Given the description of an element on the screen output the (x, y) to click on. 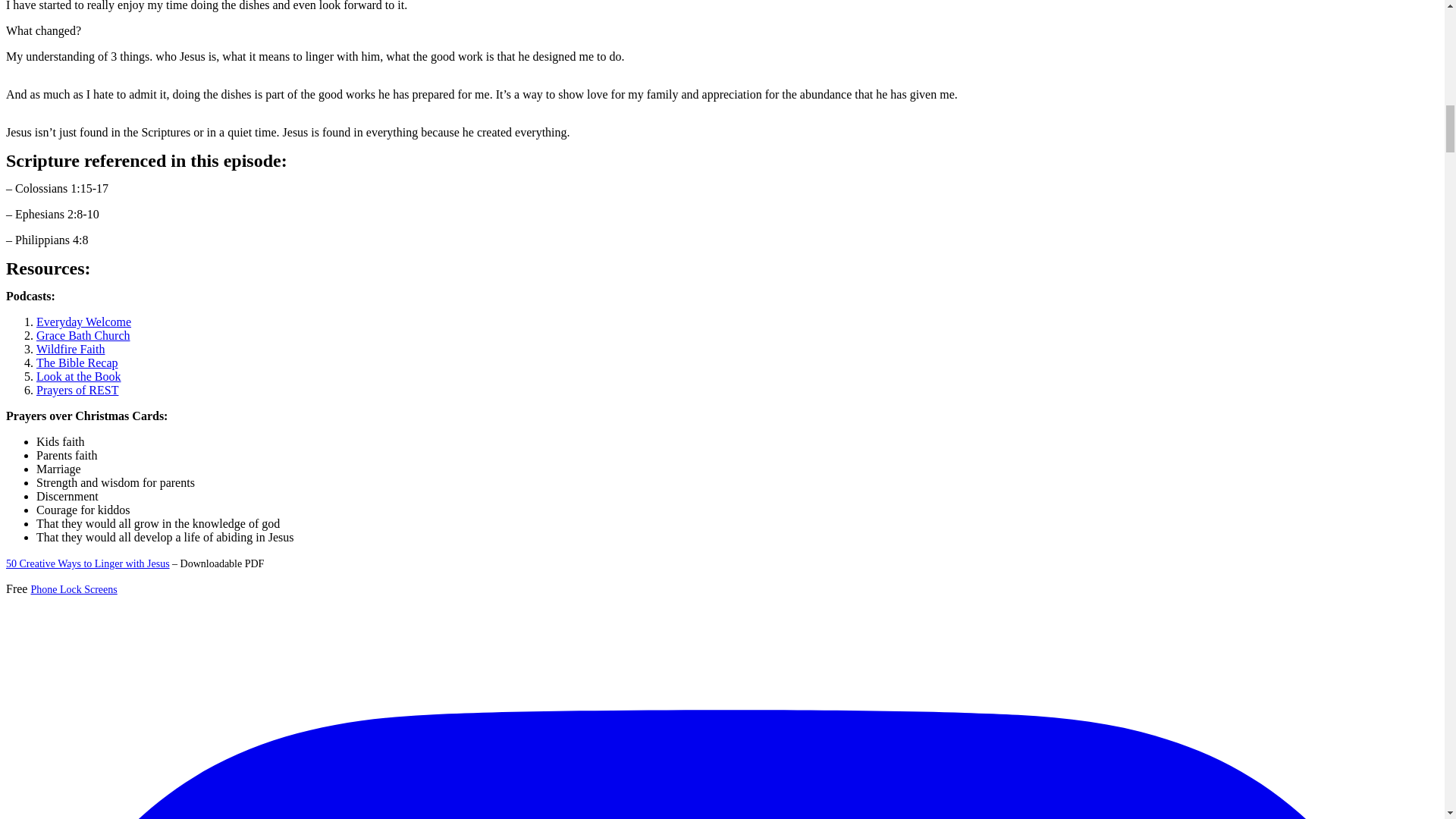
50 Creative Ways to Linger with Jesus (87, 563)
Grace Bath Church (83, 335)
The Bible Recap (76, 362)
Everyday Welcome (83, 321)
Prayers of REST (76, 390)
Look at the Book (78, 376)
Wildfire Faith (70, 349)
Phone Lock Screens (73, 589)
